Given the description of an element on the screen output the (x, y) to click on. 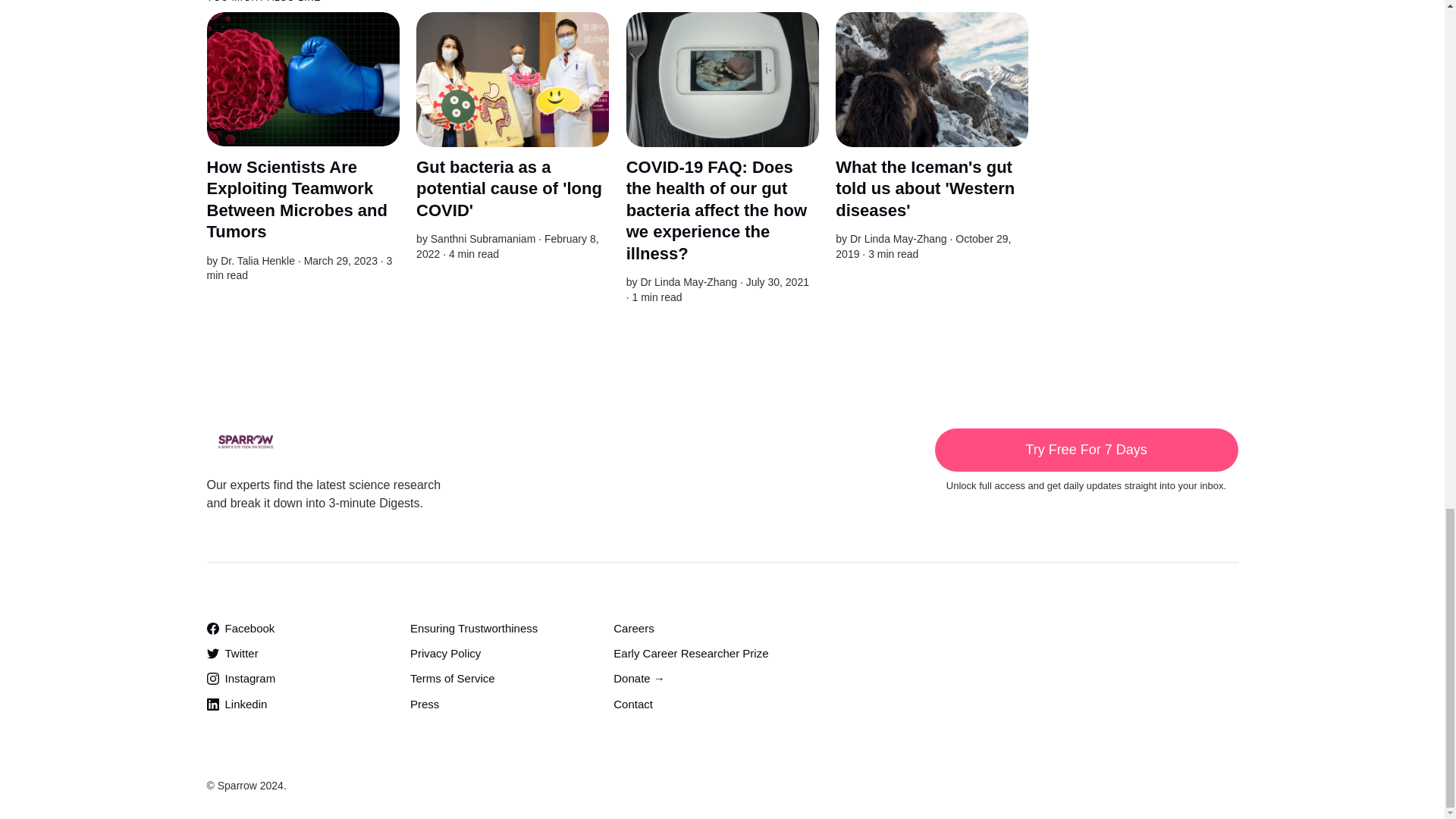
What the Iceman's gut told us about 'Western diseases' (924, 189)
Dr. Talia Henkle (258, 260)
Dr Linda May-Zhang (898, 238)
Dr Linda May-Zhang (688, 282)
Gut bacteria as a potential cause of 'long COVID' (509, 189)
Santhni Subramaniam (482, 238)
